Given the description of an element on the screen output the (x, y) to click on. 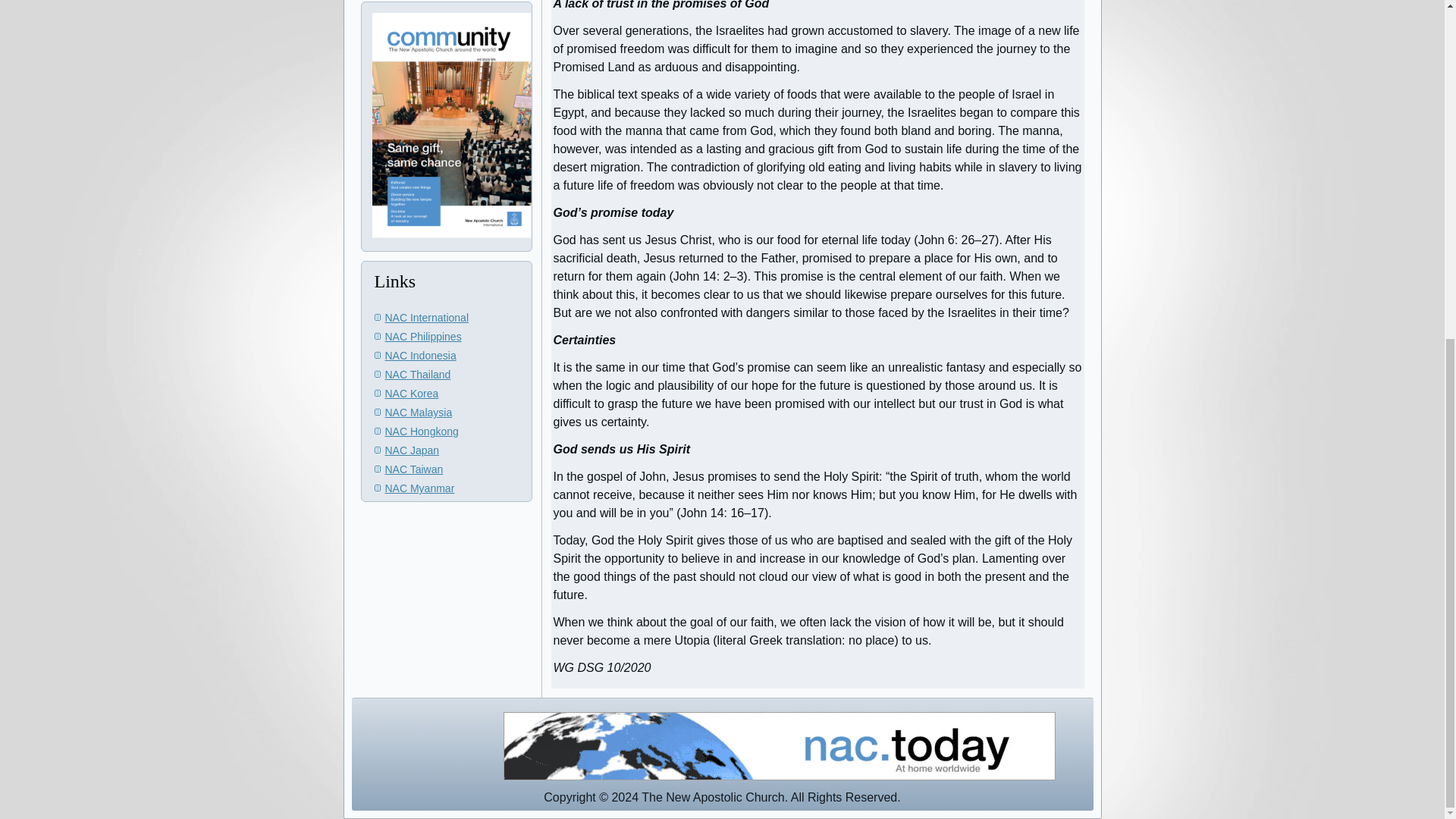
NAC Taiwan (414, 469)
NAC Malaysia (418, 412)
NAC Japan (412, 450)
NAC Indonesia (421, 355)
NAC International (426, 317)
NAC Thailand (418, 374)
NAC Hongkong (421, 431)
NAC Korea (412, 393)
NAC Myanmar (419, 488)
NAC Philippines (423, 336)
